Given the description of an element on the screen output the (x, y) to click on. 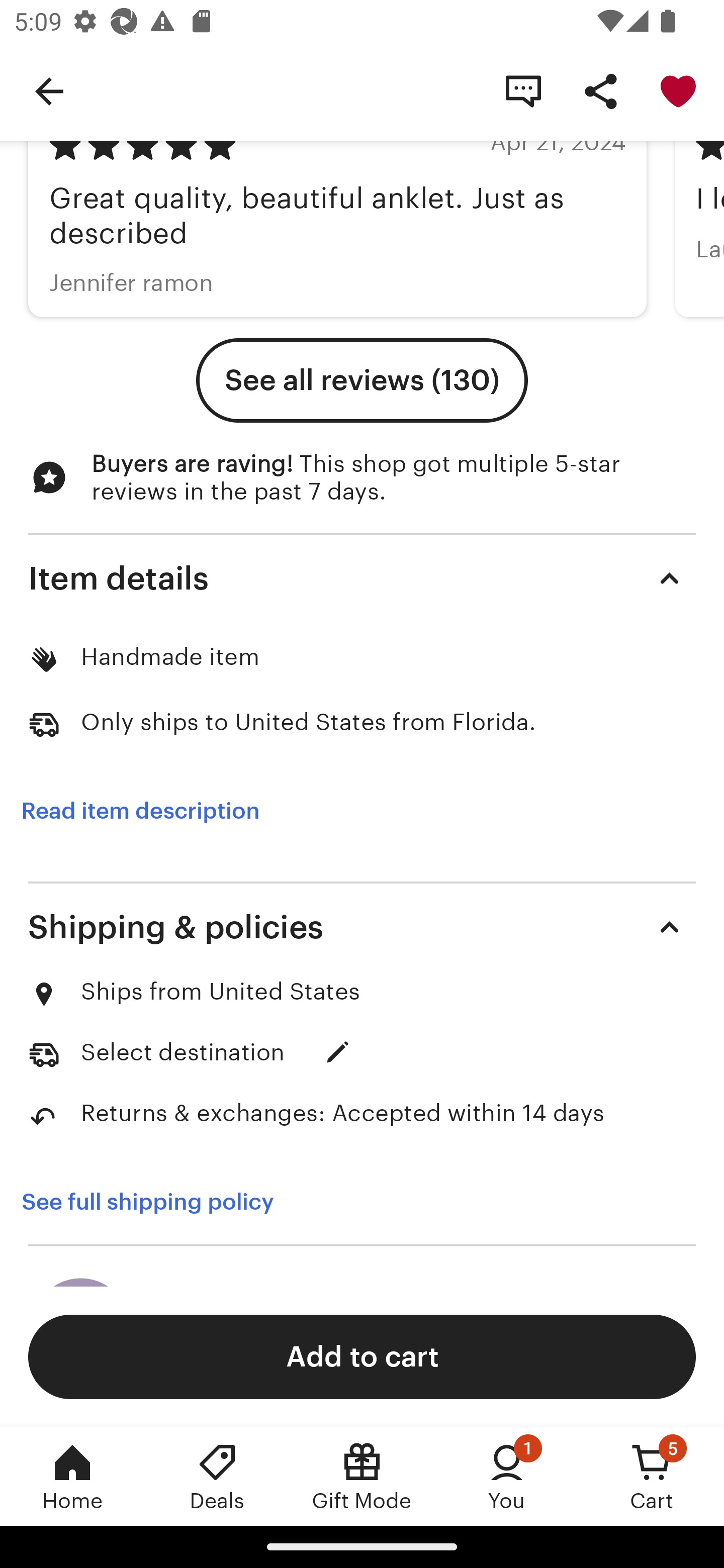
Navigate up (49, 90)
Contact shop (523, 90)
Share (600, 90)
See all reviews (130) (361, 380)
Item details (362, 578)
Read item description (140, 810)
Shipping & policies (362, 927)
Update (337, 1051)
See full shipping policy (161, 1202)
Add to cart (361, 1355)
Deals (216, 1475)
Gift Mode (361, 1475)
You, 1 new notification You (506, 1475)
Cart, 5 new notifications Cart (651, 1475)
